Given the description of an element on the screen output the (x, y) to click on. 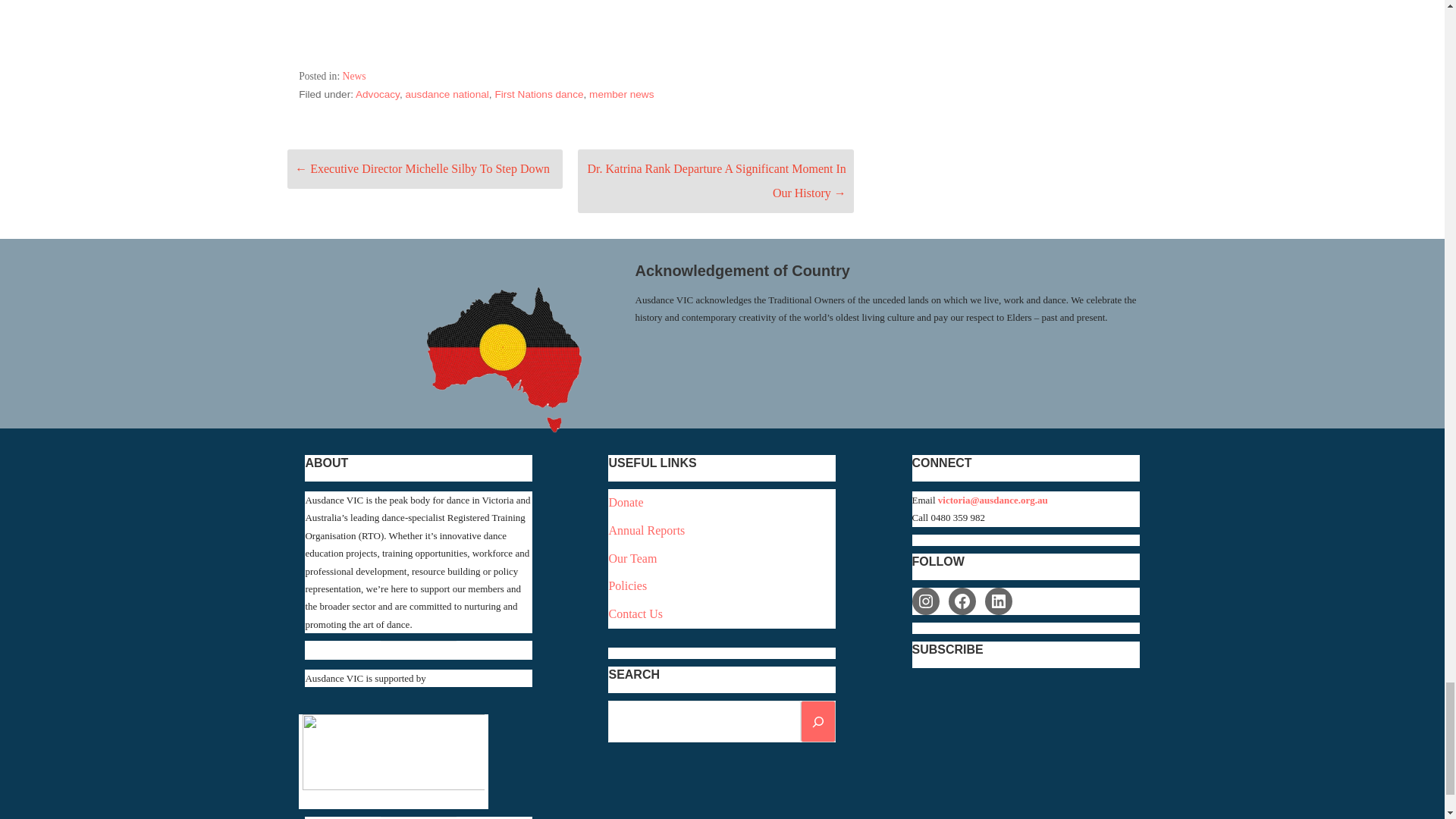
ausdance national (445, 93)
First Nations dance (539, 93)
Advocacy (376, 93)
News (354, 75)
member news (621, 93)
